Given the description of an element on the screen output the (x, y) to click on. 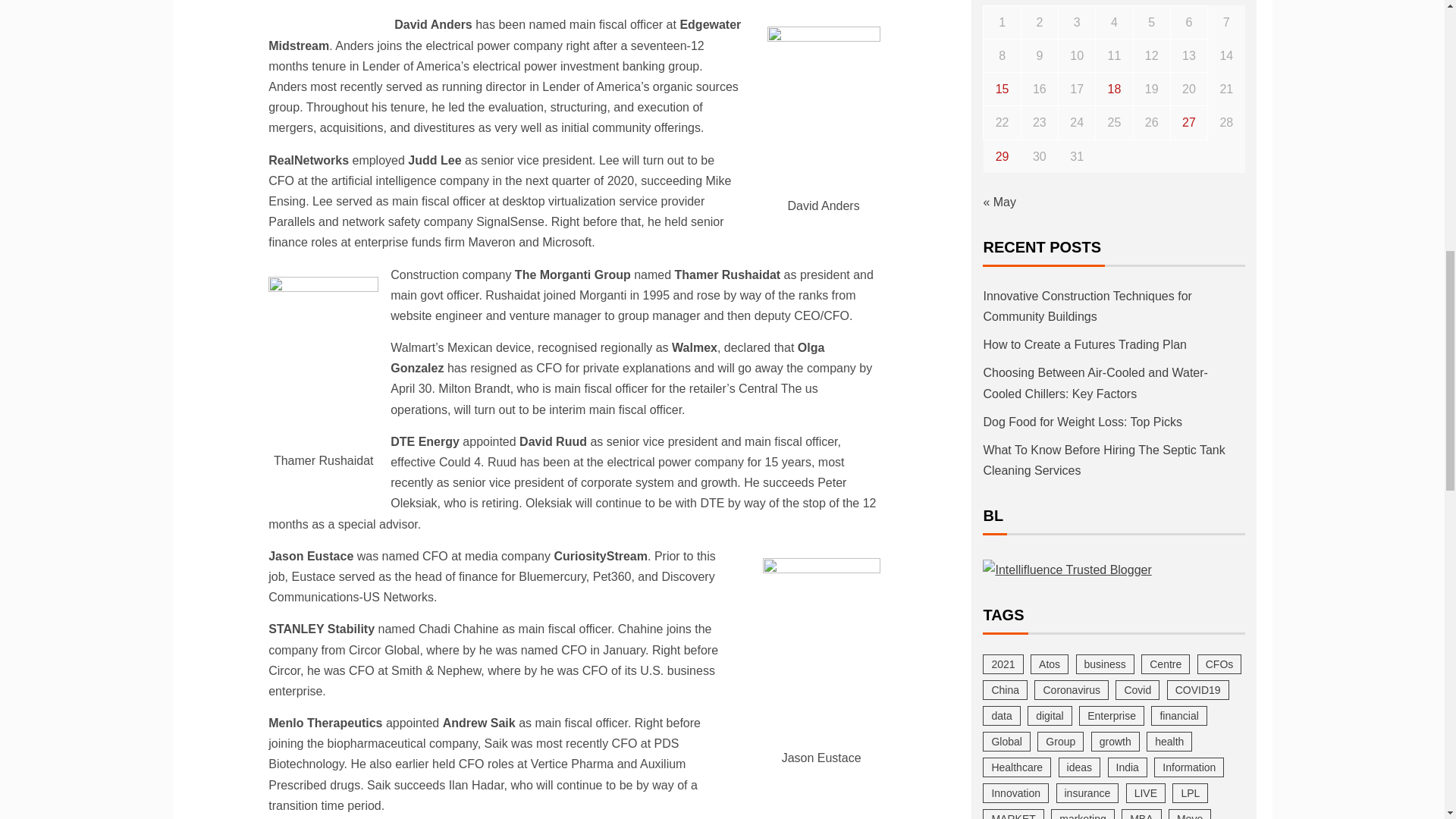
Wednesday (1077, 2)
Friday (1151, 2)
Thursday (1114, 2)
Tuesday (1039, 2)
Monday (1002, 2)
